Given the description of an element on the screen output the (x, y) to click on. 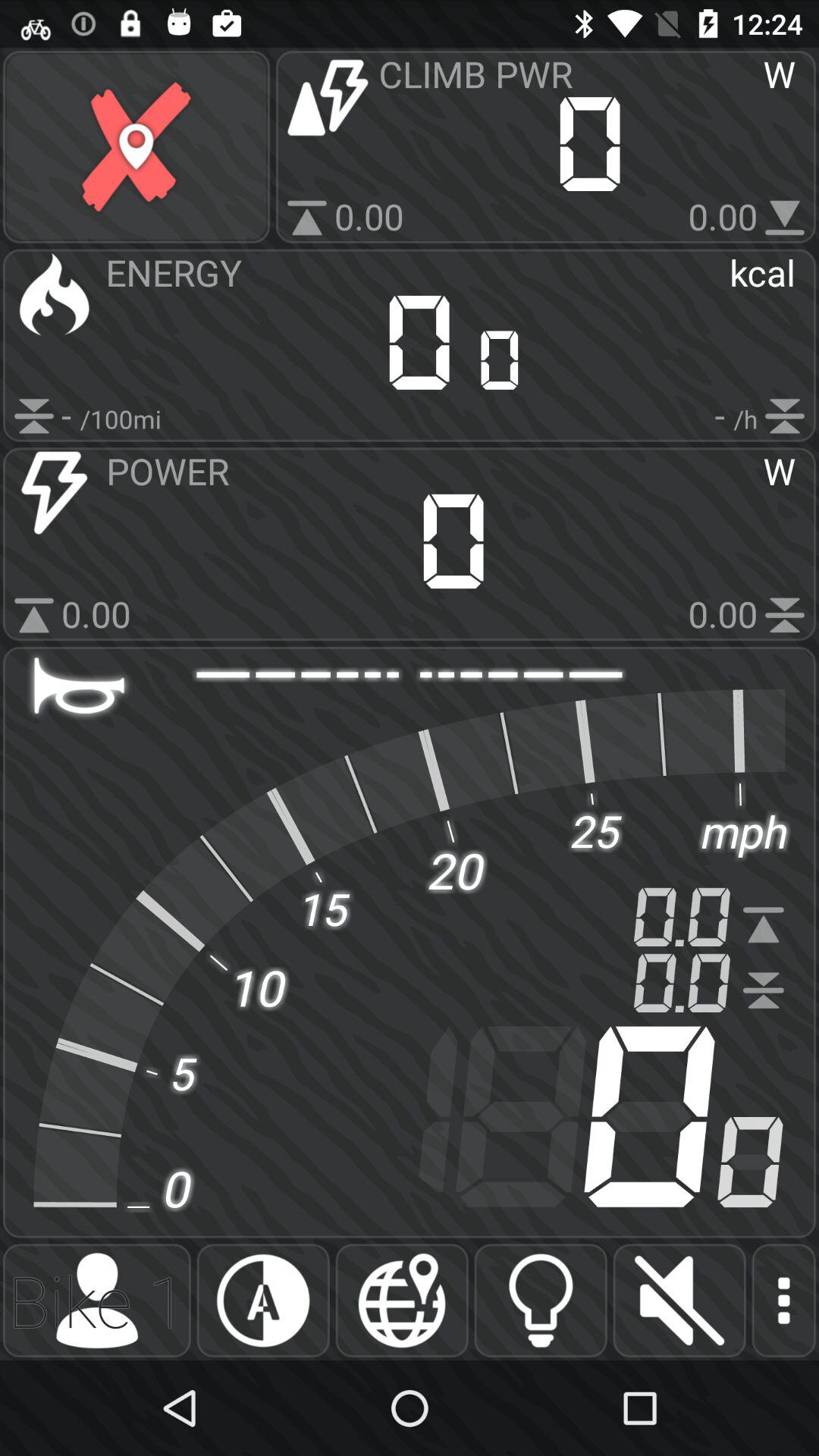
go to location tab (401, 1300)
